Given the description of an element on the screen output the (x, y) to click on. 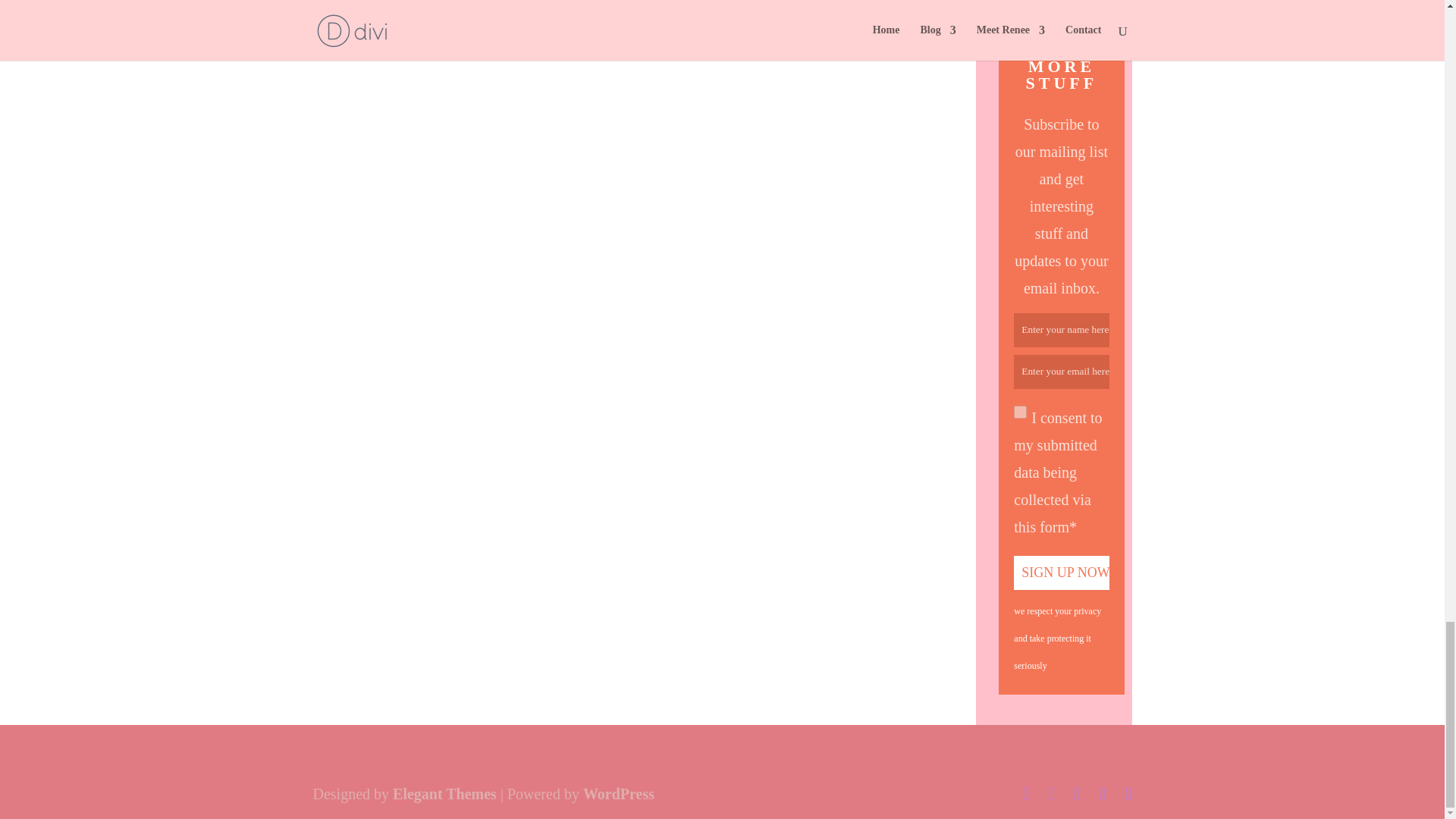
Sign Up Now (1060, 572)
on (1019, 411)
Premium WordPress Themes (444, 793)
Enter your email here (1060, 371)
Enter your name here (1060, 329)
